Given the description of an element on the screen output the (x, y) to click on. 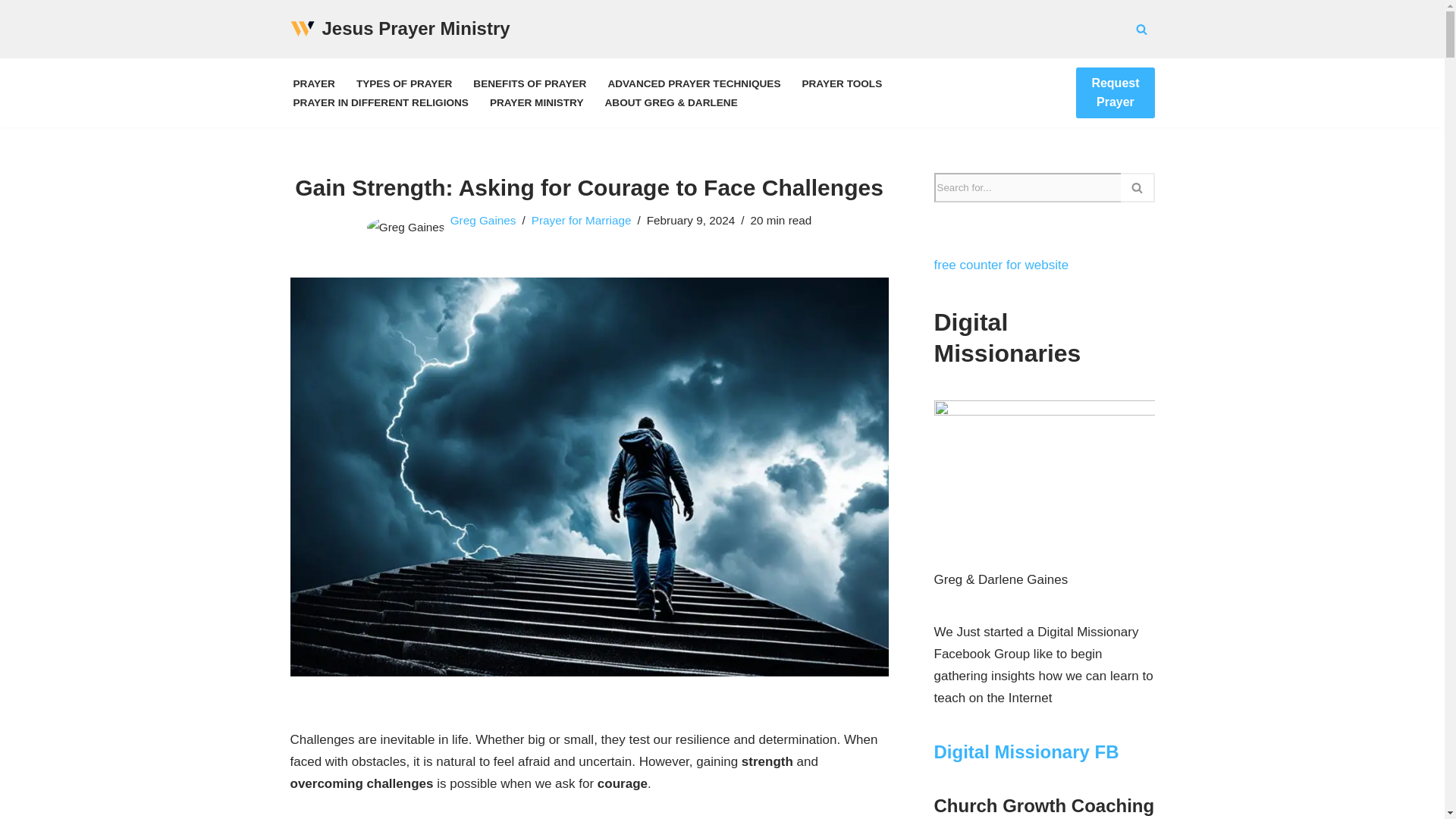
BENEFITS OF PRAYER (529, 82)
ADVANCED PRAYER TECHNIQUES (693, 82)
Greg Gaines (482, 219)
Posts by Greg Gaines (482, 219)
Request Prayer (1114, 92)
Skip to content (11, 31)
TYPES OF PRAYER (403, 82)
PRAYER (313, 82)
Prayer for Marriage (581, 219)
PRAYER MINISTRY (536, 101)
